Given the description of an element on the screen output the (x, y) to click on. 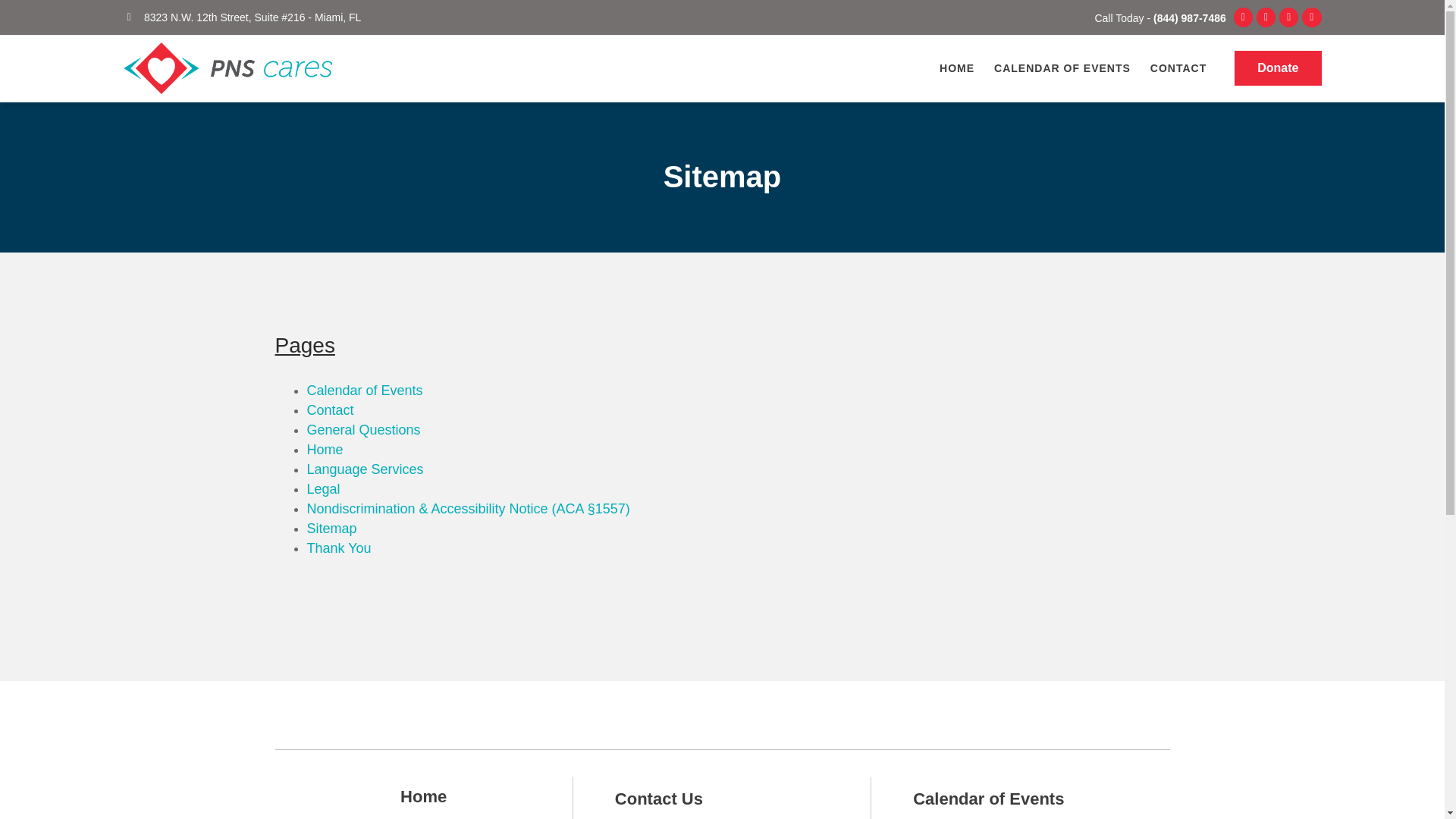
Sitemap (330, 528)
HOME (957, 67)
Thank You (338, 548)
Home (423, 796)
Donate (1277, 67)
General Questions (362, 429)
CONTACT (1178, 67)
Calendar of Events (988, 798)
Language Services (364, 468)
Home (323, 449)
Legal (322, 488)
Contact (329, 409)
CALENDAR OF EVENTS (1062, 67)
Calendar of Events (363, 390)
